Given the description of an element on the screen output the (x, y) to click on. 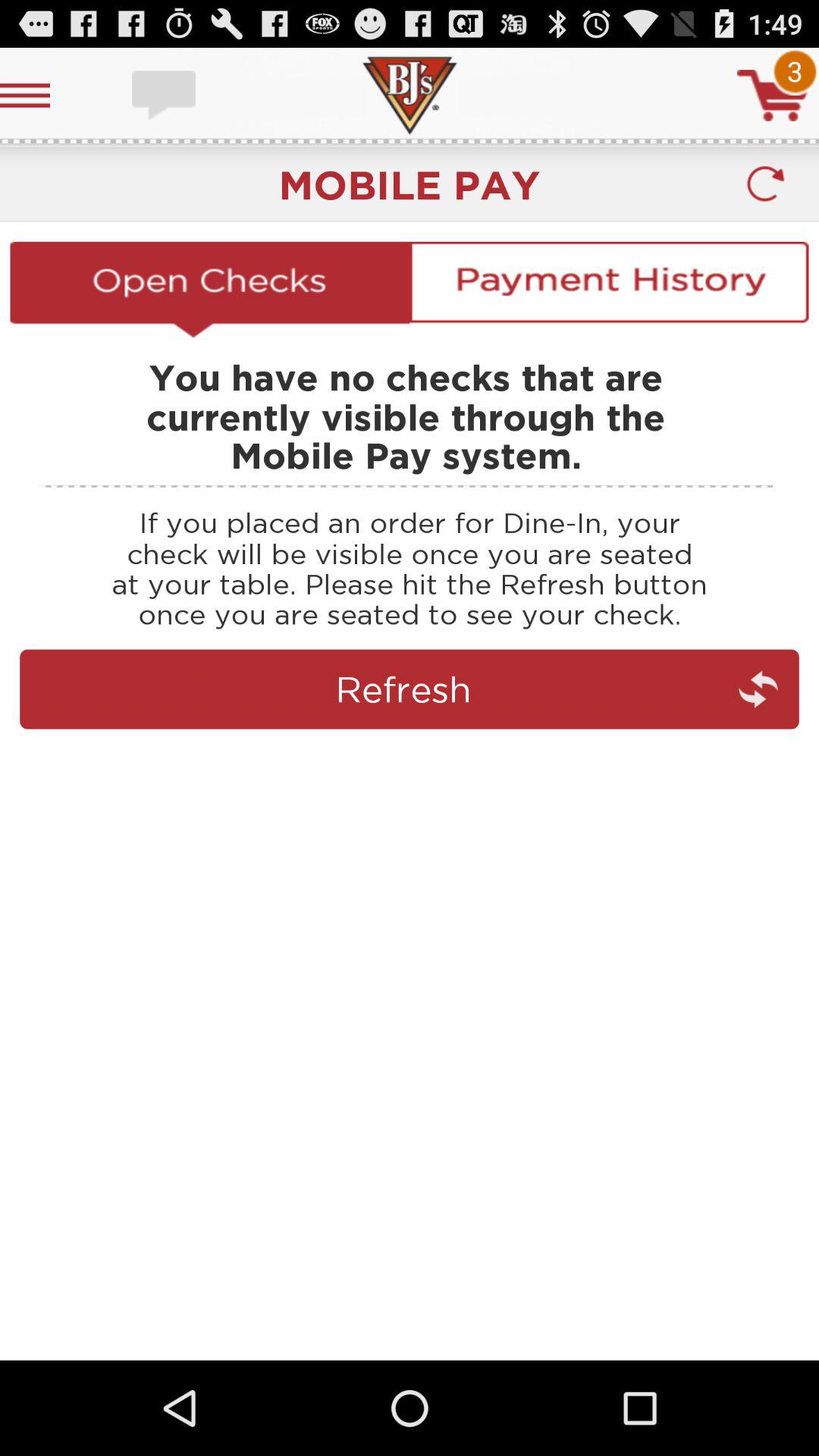
toggle checks (209, 289)
